Given the description of an element on the screen output the (x, y) to click on. 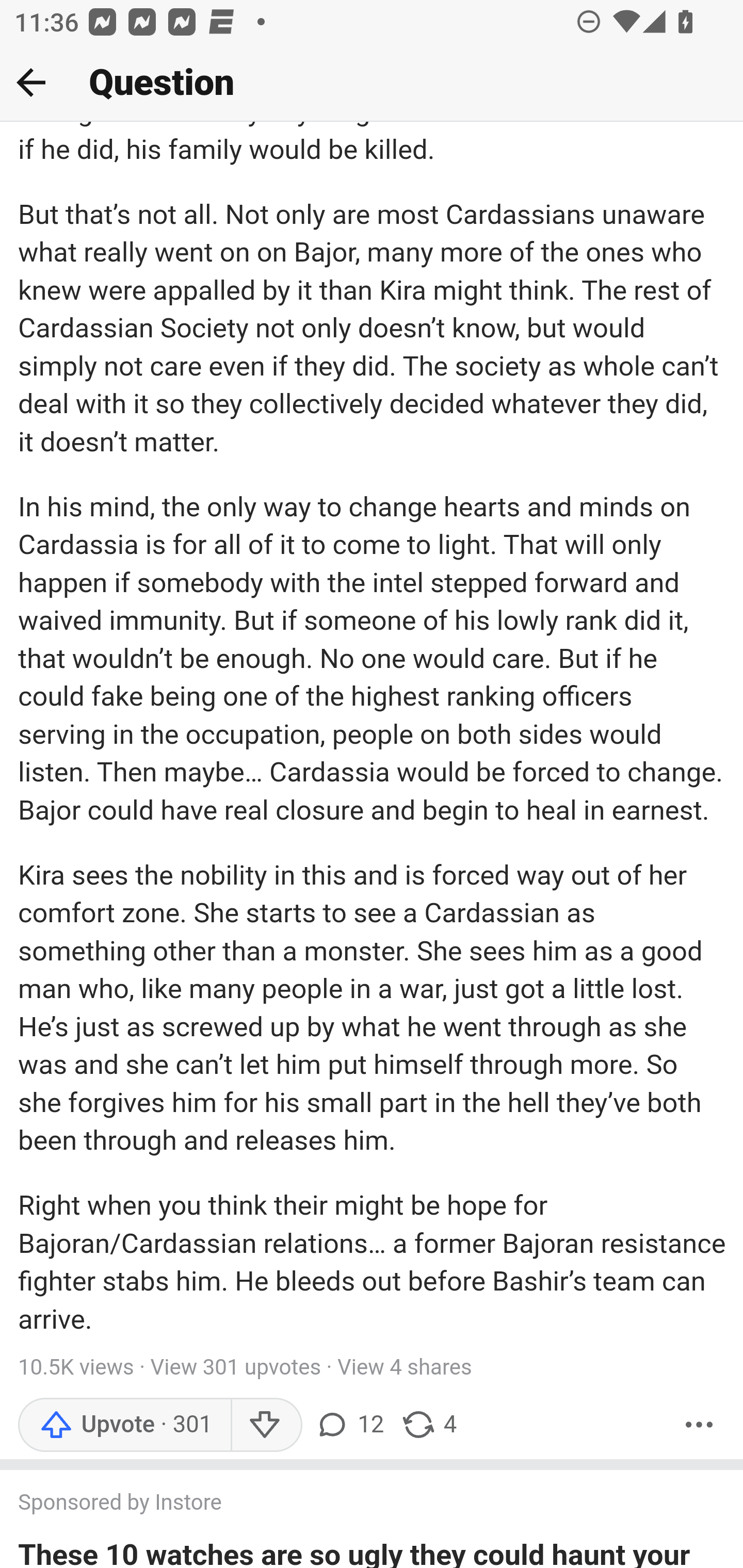
Back (30, 82)
View 301 upvotes (236, 1369)
View 4 shares (404, 1369)
